Given the description of an element on the screen output the (x, y) to click on. 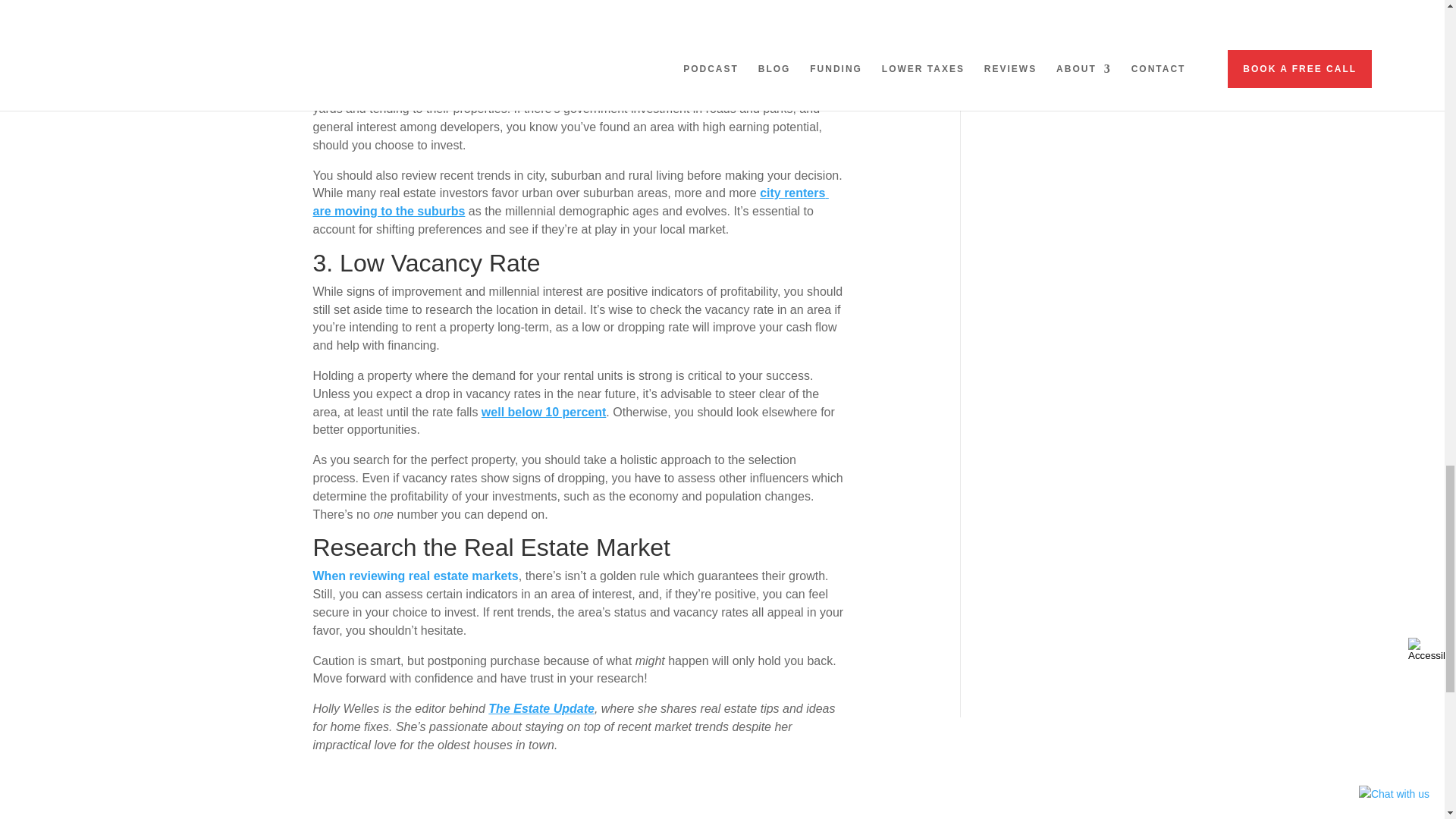
When reviewing real estate markets (415, 575)
city renters are moving to the suburbs (570, 201)
The Estate Update (540, 707)
well below 10 percent (544, 411)
